Given the description of an element on the screen output the (x, y) to click on. 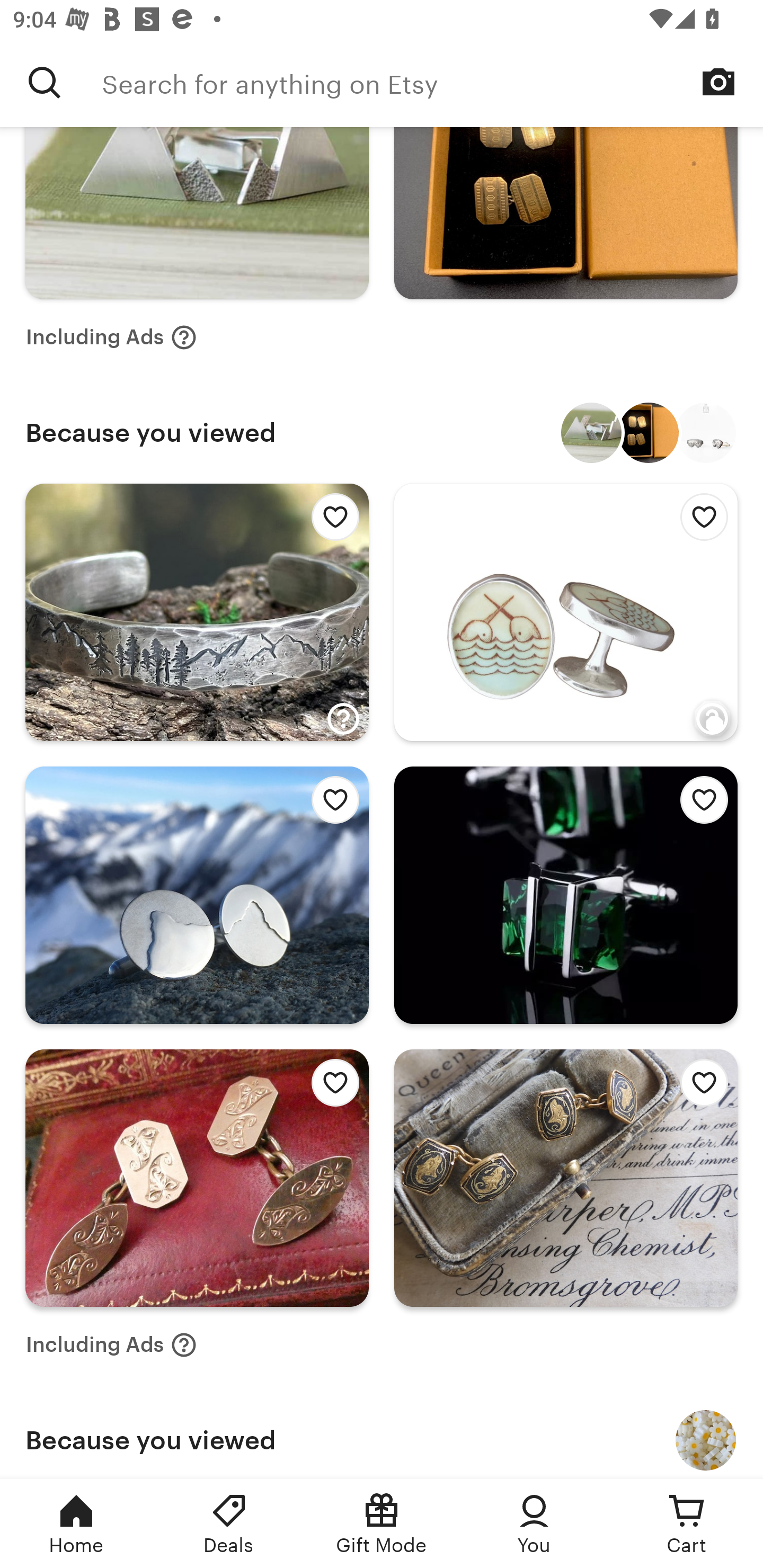
Search for anything on Etsy (44, 82)
Search by image (718, 81)
Search for anything on Etsy (432, 82)
Including Ads (111, 337)
Including Ads (111, 1344)
Millefiori Glass Daisy Flower Beads (705, 1439)
Deals (228, 1523)
Gift Mode (381, 1523)
You (533, 1523)
Cart (686, 1523)
